Given the description of an element on the screen output the (x, y) to click on. 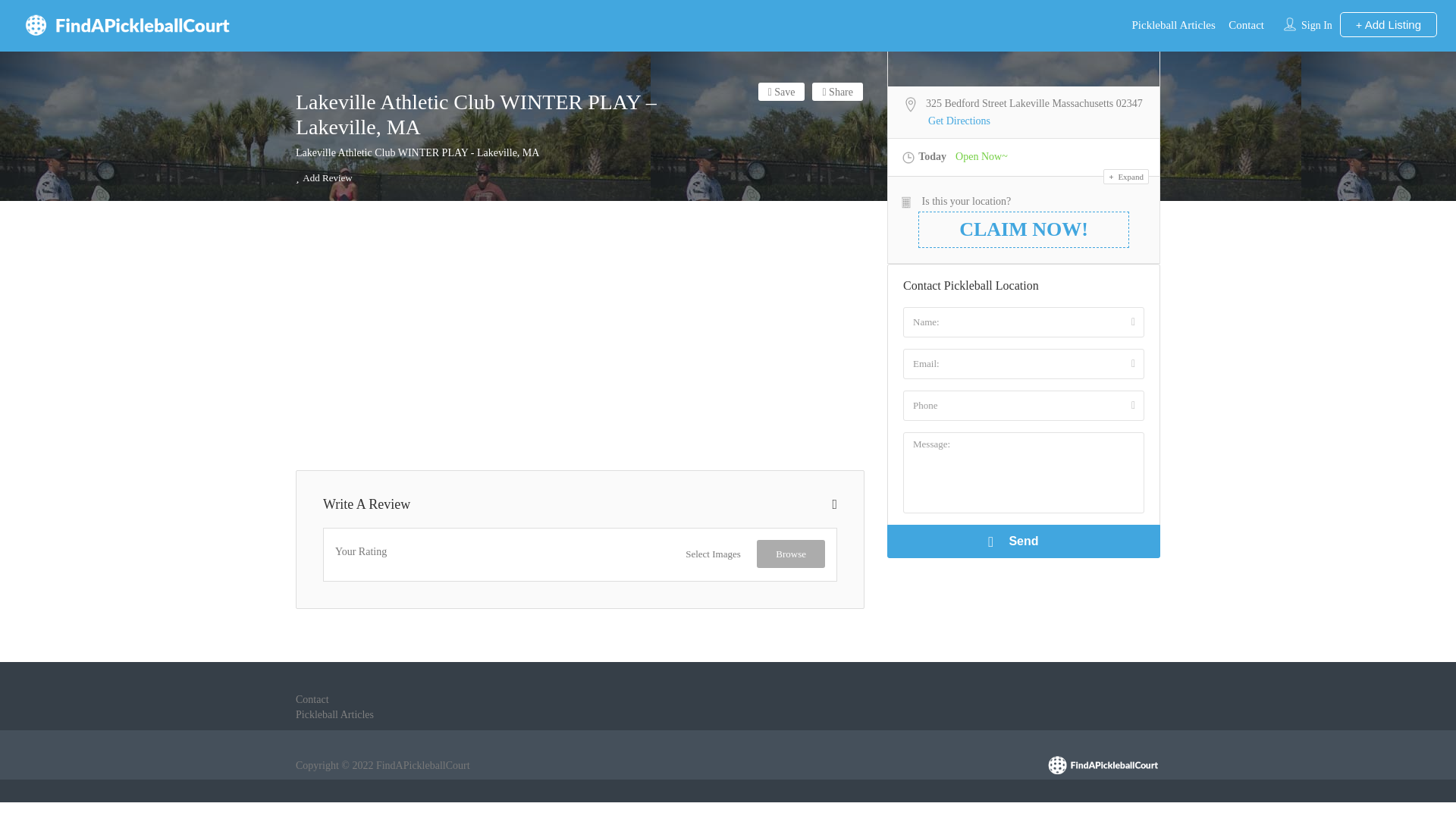
Contact (312, 699)
Submit (419, 500)
Share (837, 91)
Get Directions (959, 121)
Browse (791, 553)
Contact (1245, 24)
Sign In (1316, 25)
Expand (1125, 176)
Claim this pickleball location (589, 567)
Send (1023, 540)
Pickleball Articles (334, 714)
Add Listing (1388, 24)
CLAIM NOW! (1023, 229)
Advertisement (579, 336)
Add Review (323, 177)
